Given the description of an element on the screen output the (x, y) to click on. 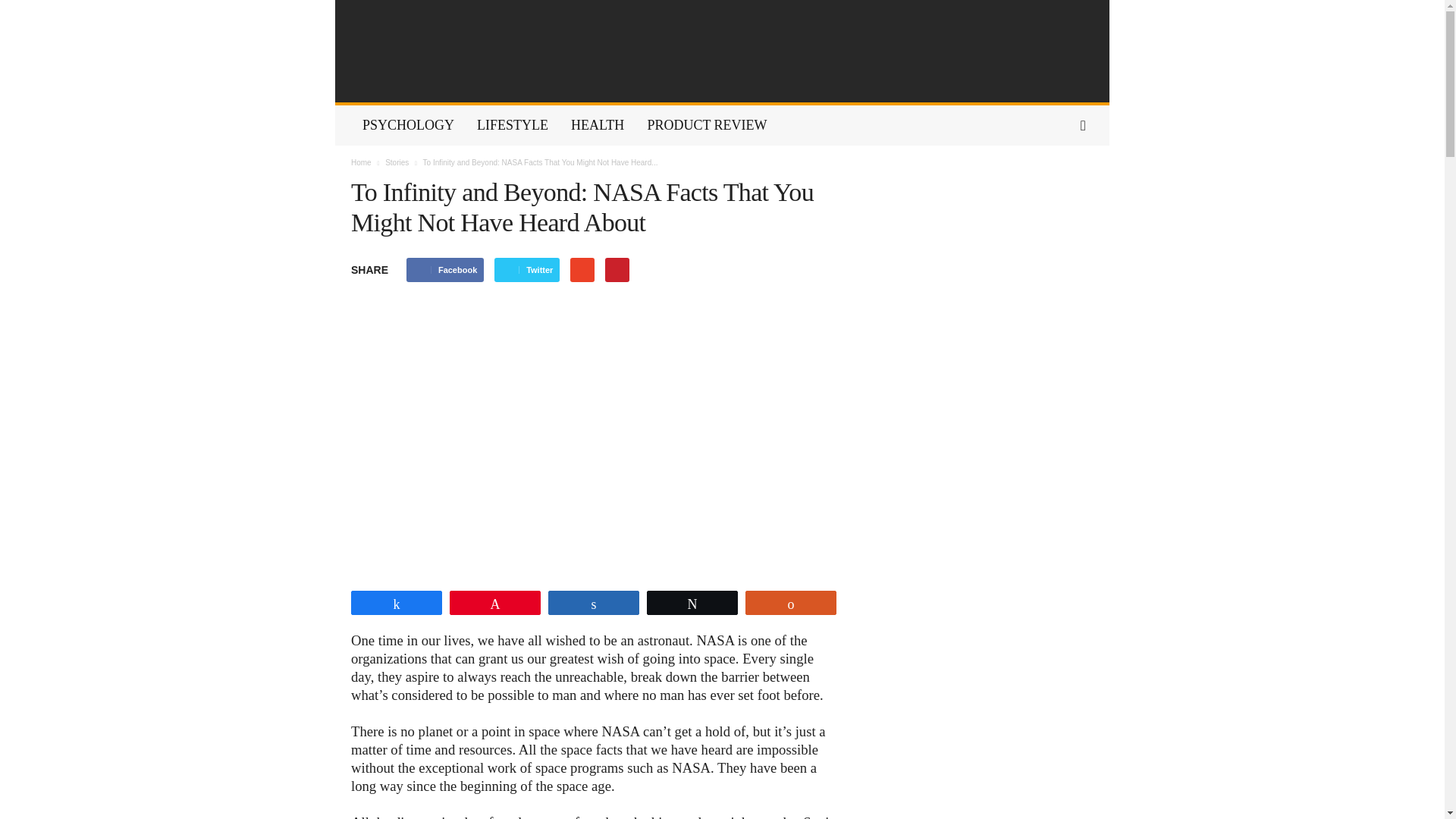
Facebook (444, 269)
Twitter (527, 269)
The Power Of Silence (721, 51)
Home (360, 162)
LIFESTYLE (512, 125)
Stories (397, 162)
PSYCHOLOGY (407, 125)
HEALTH (596, 125)
View all posts in Stories (397, 162)
PRODUCT REVIEW (705, 125)
